Given the description of an element on the screen output the (x, y) to click on. 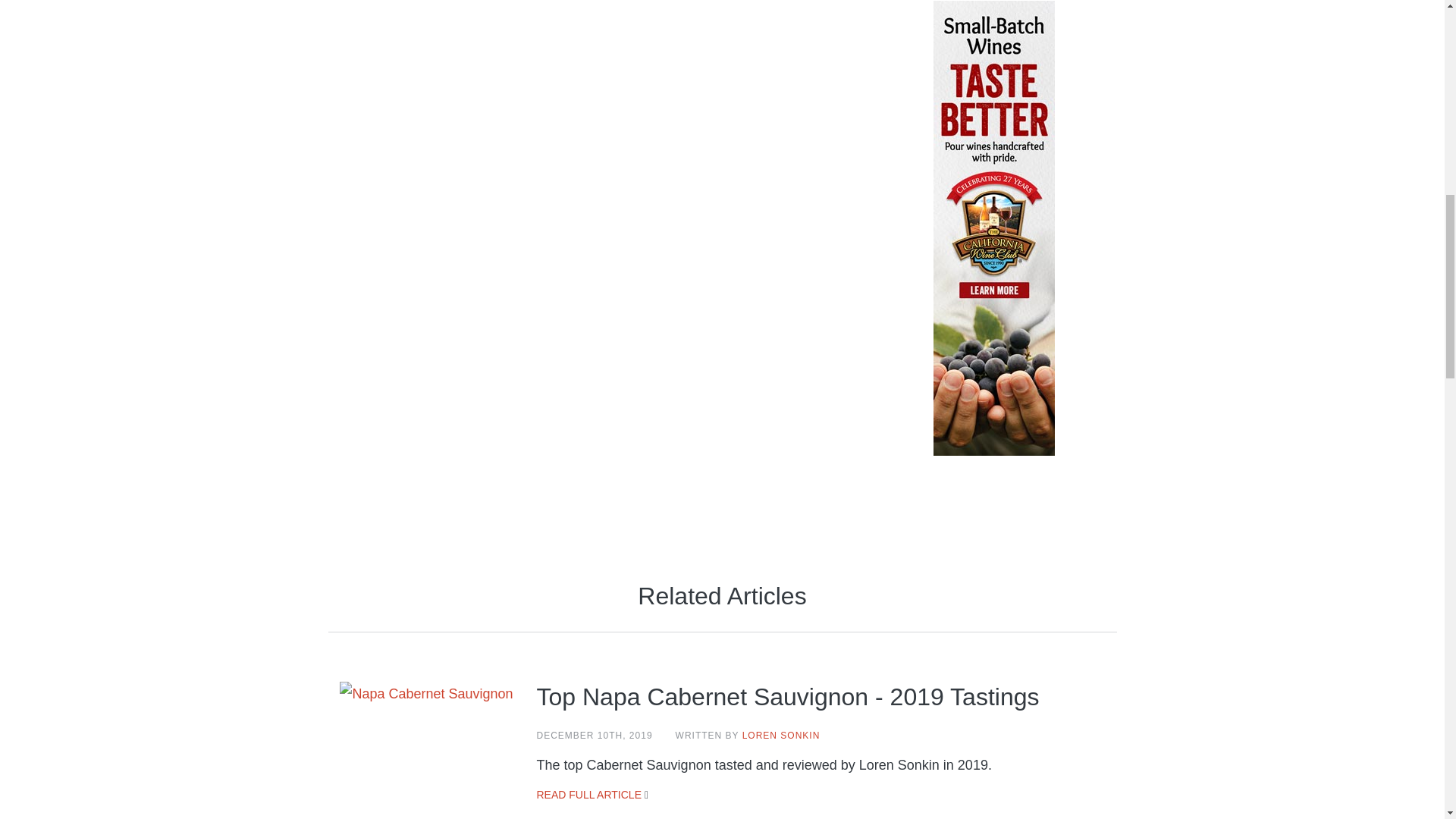
Top Napa Cabernet Sauvignon - 2019 Tastings (788, 696)
View user profile. (781, 735)
LOREN SONKIN (781, 735)
READ FULL ARTICLE (589, 794)
